Given the description of an element on the screen output the (x, y) to click on. 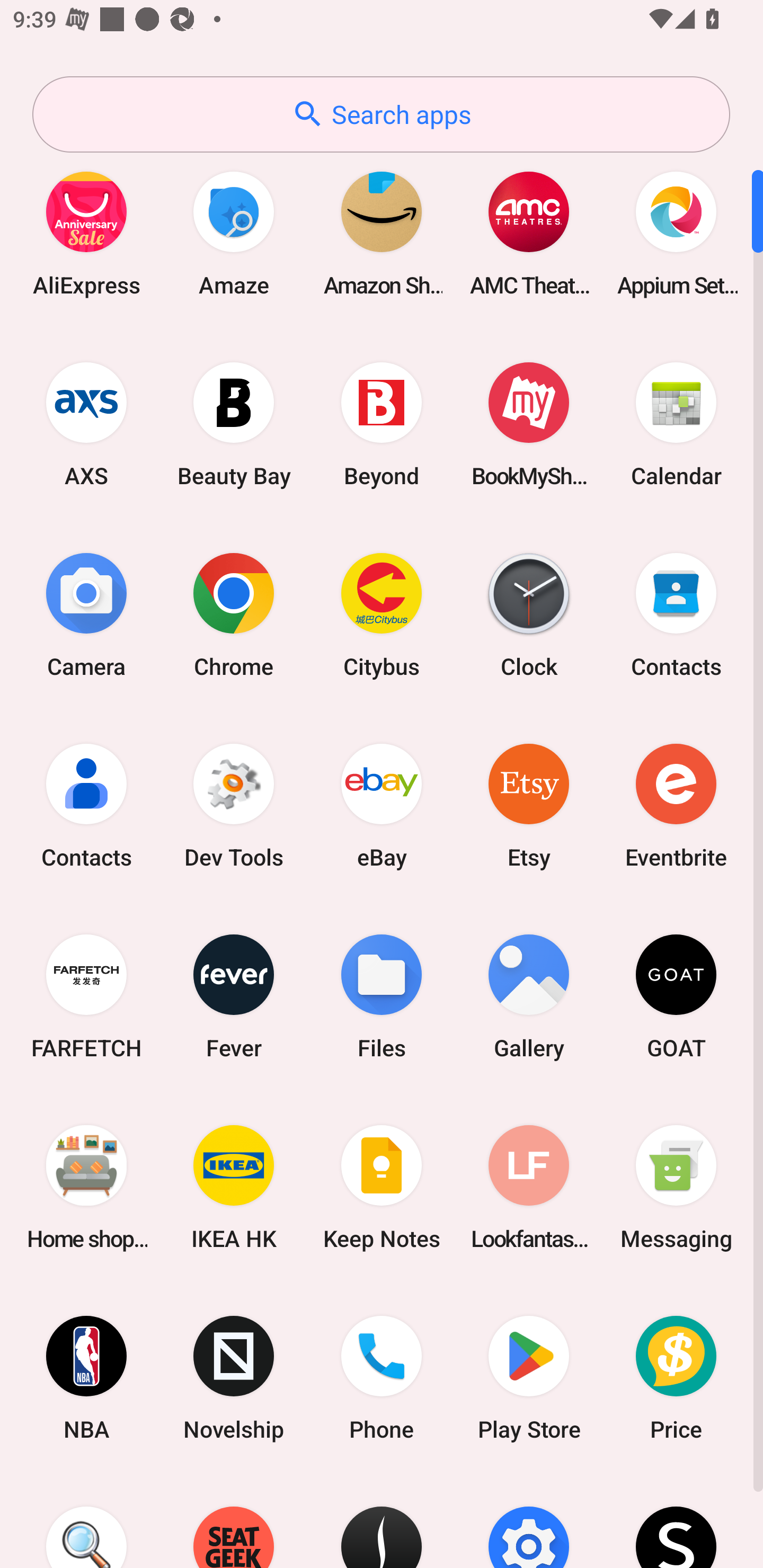
  Search apps (381, 114)
AliExpress (86, 233)
Amaze (233, 233)
Amazon Shopping (381, 233)
AMC Theatres (528, 233)
Appium Settings (676, 233)
AXS (86, 424)
Beauty Bay (233, 424)
Beyond (381, 424)
BookMyShow (528, 424)
Calendar (676, 424)
Camera (86, 614)
Chrome (233, 614)
Citybus (381, 614)
Clock (528, 614)
Contacts (676, 614)
Contacts (86, 805)
Dev Tools (233, 805)
eBay (381, 805)
Etsy (528, 805)
Eventbrite (676, 805)
FARFETCH (86, 996)
Fever (233, 996)
Files (381, 996)
Gallery (528, 996)
GOAT (676, 996)
Home shopping (86, 1186)
IKEA HK (233, 1186)
Keep Notes (381, 1186)
Lookfantastic (528, 1186)
Messaging (676, 1186)
NBA (86, 1377)
Novelship (233, 1377)
Phone (381, 1377)
Play Store (528, 1377)
Price (676, 1377)
